Given the description of an element on the screen output the (x, y) to click on. 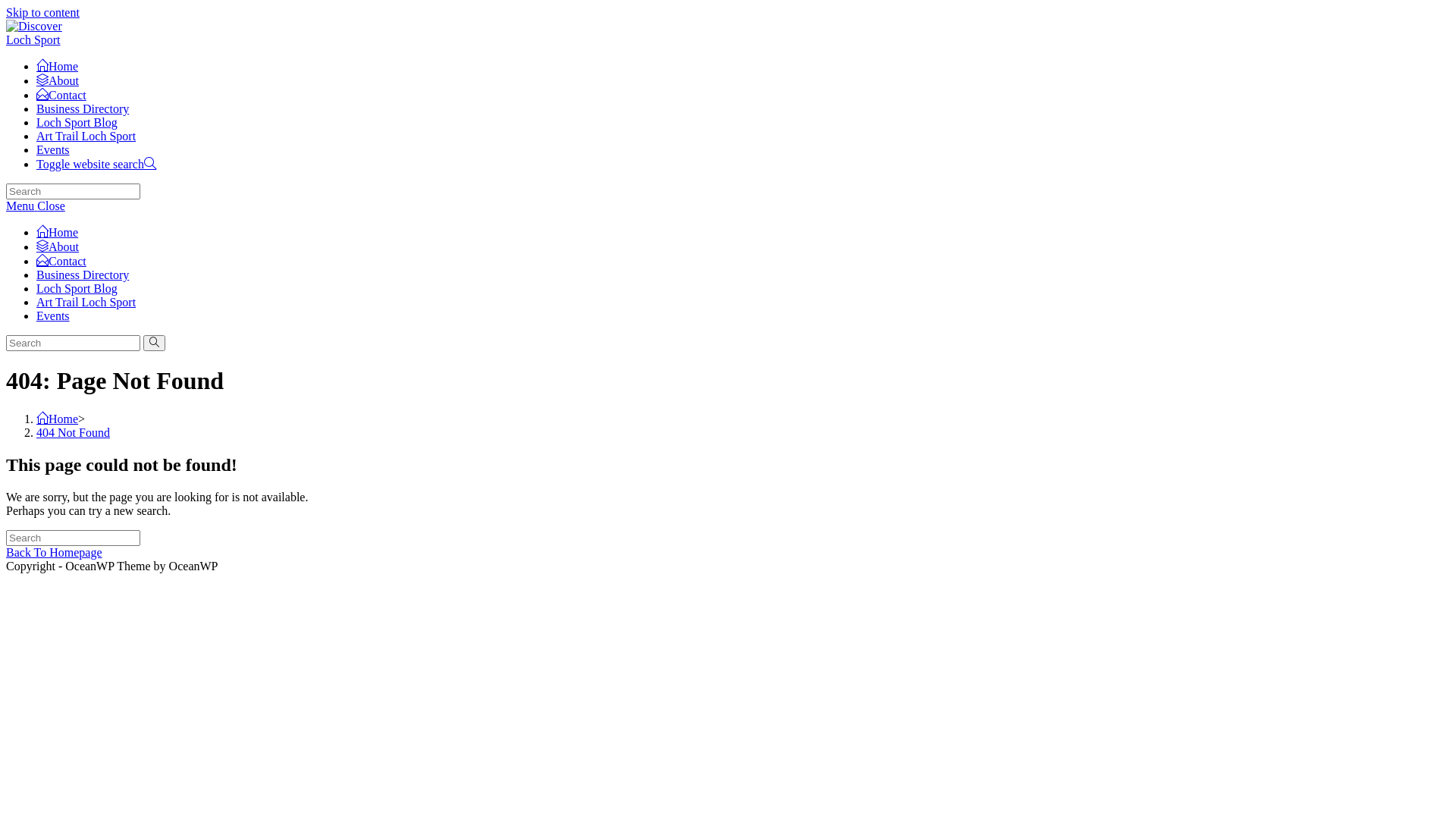
Business Directory Element type: text (82, 274)
Back To Homepage Element type: text (54, 552)
Toggle website search Element type: text (96, 163)
Contact Element type: text (61, 260)
Events Element type: text (52, 315)
Home Element type: text (57, 65)
404 Not Found Element type: text (72, 432)
Loch Sport Blog Element type: text (76, 122)
Home Element type: text (57, 418)
About Element type: text (57, 246)
Art Trail Loch Sport Element type: text (85, 135)
About Element type: text (57, 80)
Events Element type: text (52, 149)
Business Directory Element type: text (82, 108)
Skip to content Element type: text (42, 12)
Loch Sport Blog Element type: text (76, 288)
Home Element type: text (57, 231)
Menu Close Element type: text (35, 205)
Art Trail Loch Sport Element type: text (85, 301)
Contact Element type: text (61, 94)
